Given the description of an element on the screen output the (x, y) to click on. 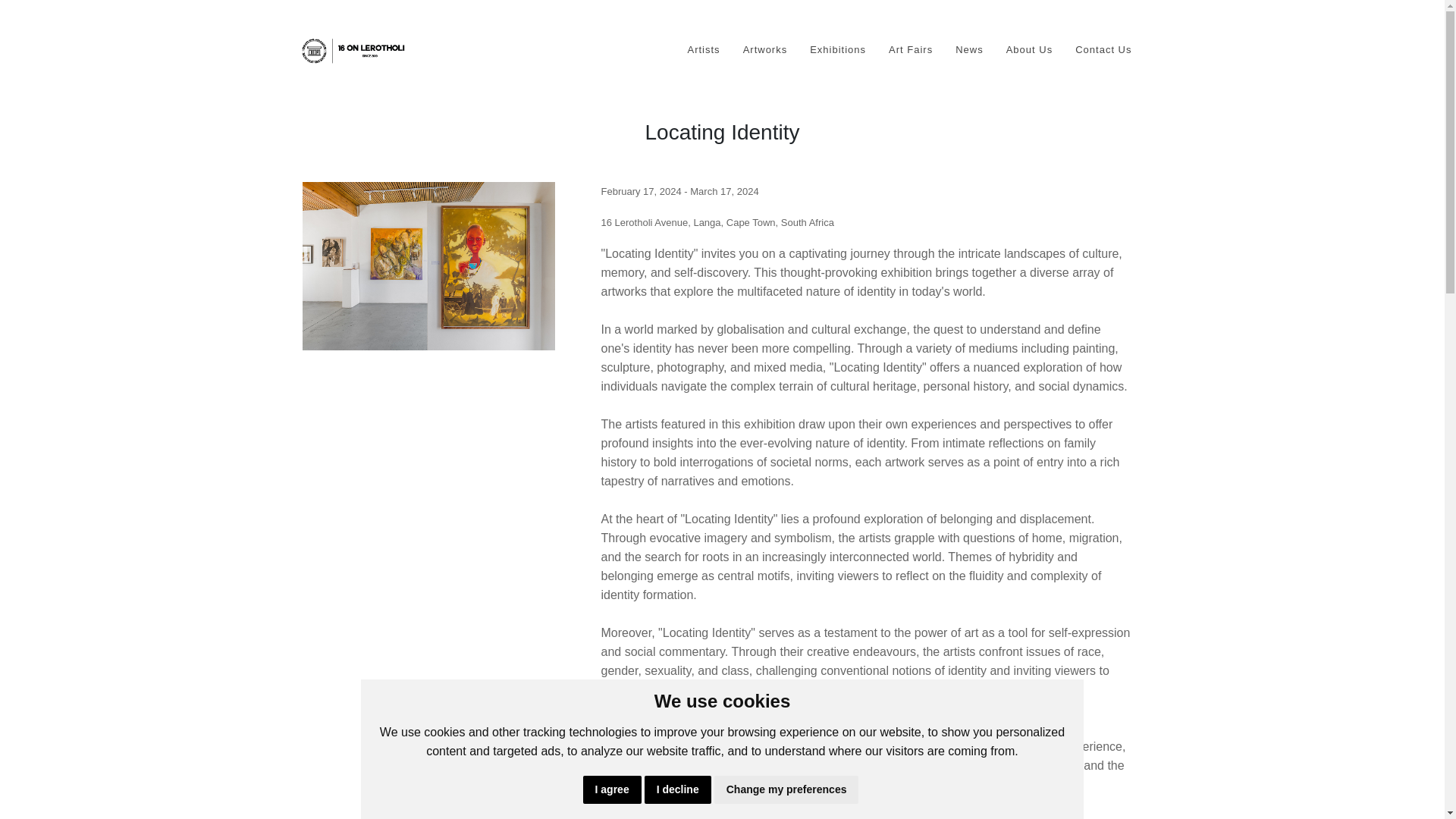
Artists (703, 49)
Art Fairs (910, 49)
About Us (1029, 49)
16 on Lerotholi (353, 49)
Contact Us (1103, 49)
Exhibitions (837, 49)
Change my preferences (786, 789)
I agree (612, 789)
Artworks (764, 49)
I decline (678, 789)
News (969, 49)
